Given the description of an element on the screen output the (x, y) to click on. 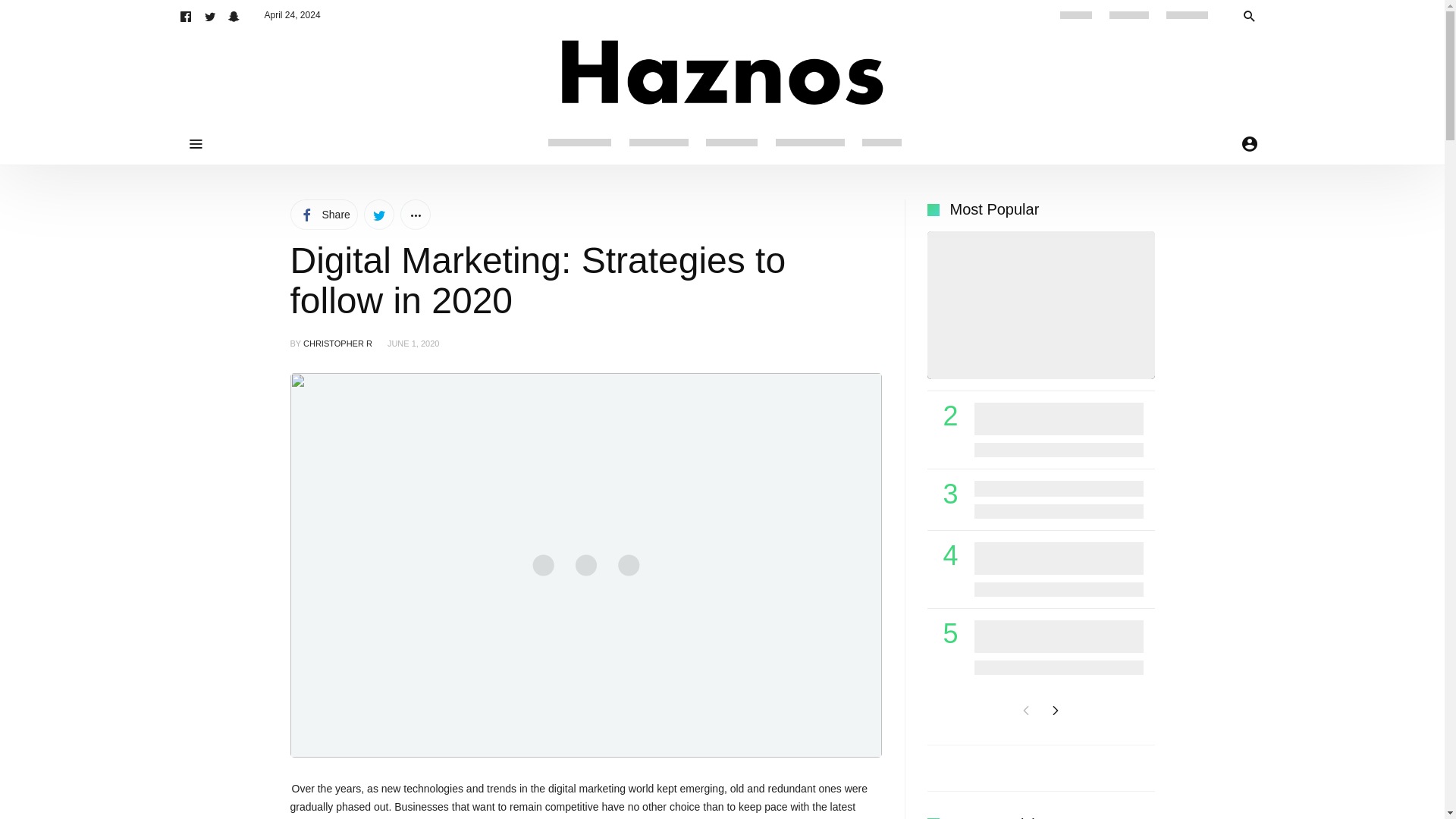
Snapchat (233, 14)
Log In (1325, 322)
Share on Facebook (322, 214)
Share (322, 214)
Facebook (184, 14)
Share on Twitter (379, 214)
Twitter (209, 14)
More (415, 214)
